Given the description of an element on the screen output the (x, y) to click on. 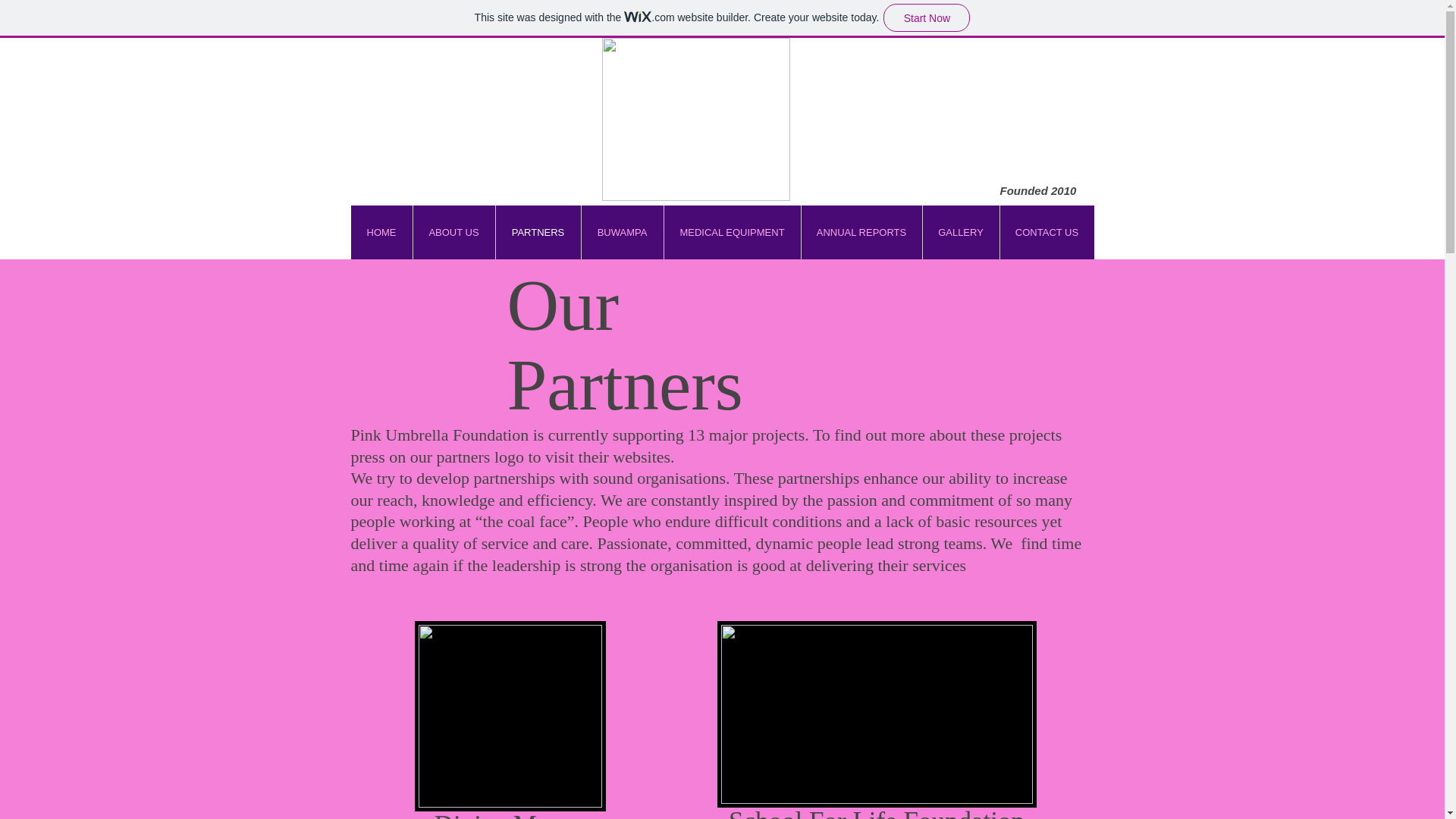
PARTNERS (537, 232)
HOME (381, 232)
ANNUAL REPORTS (508, 814)
ABOUT US (860, 232)
BUWAMPA (453, 232)
Picture7.png (621, 232)
MEDICAL EQUIPMENT (696, 118)
CONTACT US (730, 232)
school for life logo.jpg (1046, 232)
GALLERY (877, 812)
